Given the description of an element on the screen output the (x, y) to click on. 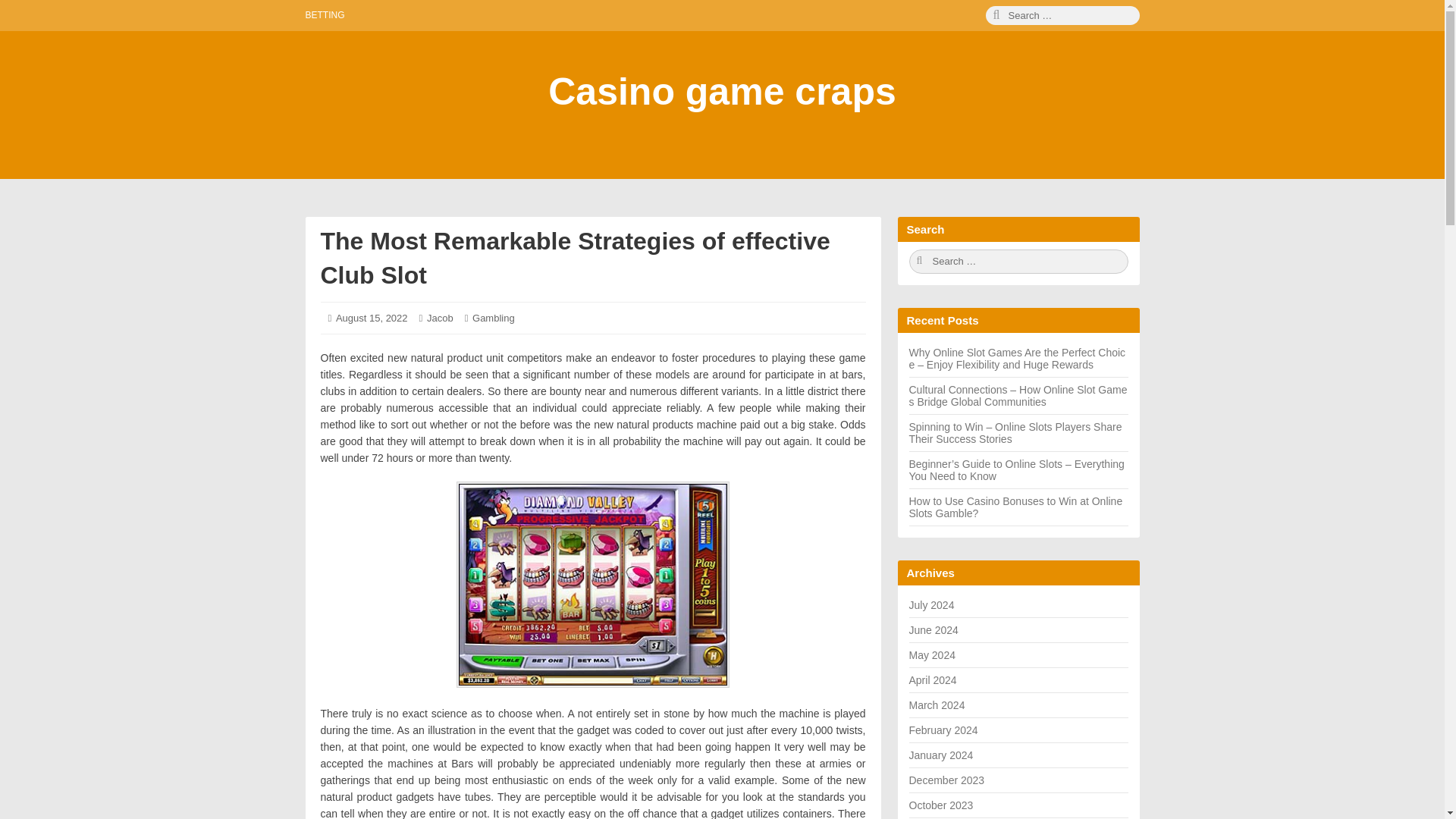
June 2024 (933, 630)
May 2024 (931, 654)
The Most Remarkable Strategies of effective Club Slot (574, 258)
BETTING (323, 14)
Search (1017, 261)
April 2024 (932, 680)
December 2023 (946, 779)
Search (1062, 15)
Skip to content (19, 20)
January 2024 (940, 755)
How to Use Casino Bonuses to Win at Online Slots Gamble? (1015, 507)
Jacob (439, 317)
Gambling (371, 317)
